Given the description of an element on the screen output the (x, y) to click on. 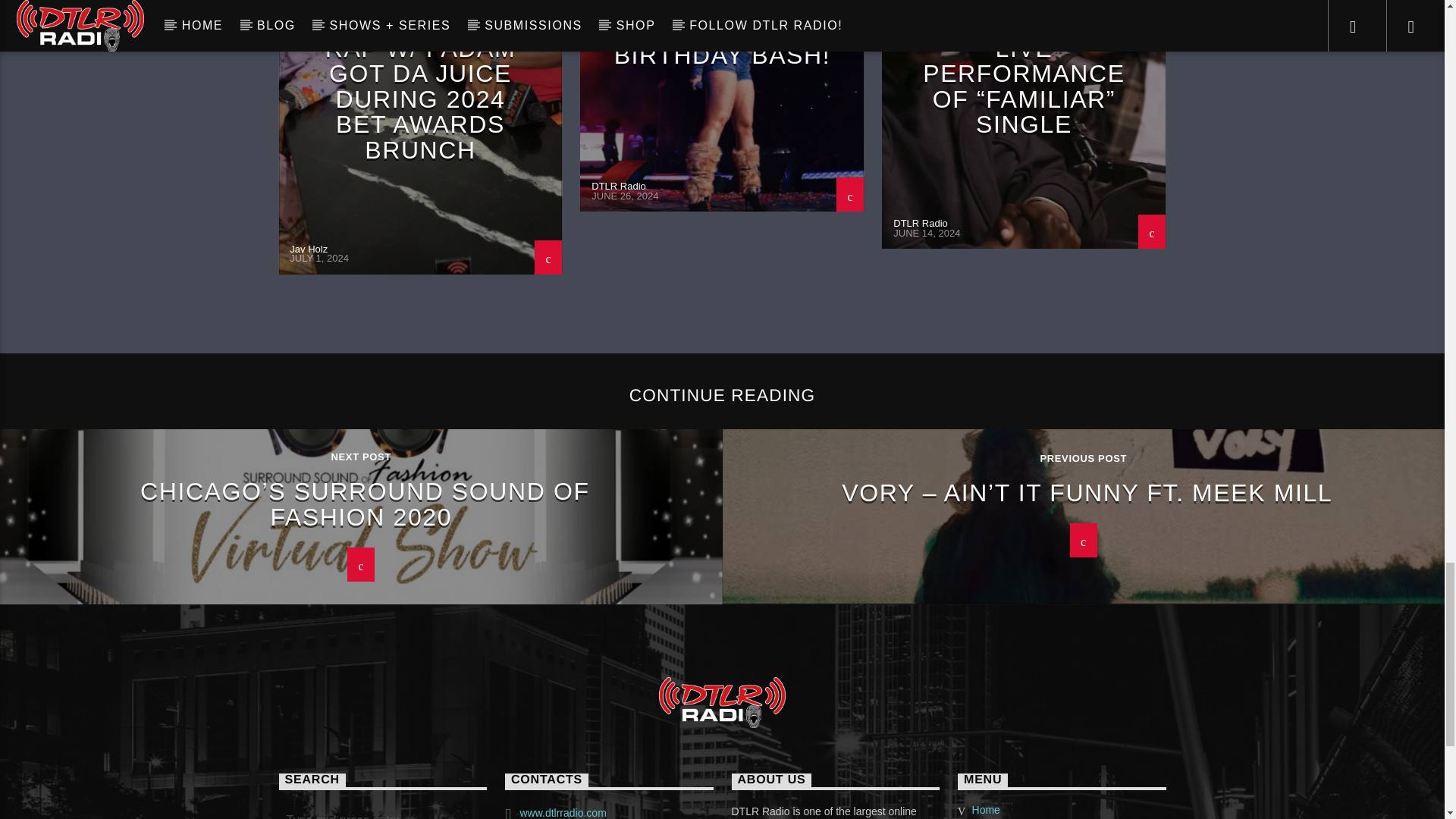
Posts by Jay Holz (308, 248)
Posts by DTLR Radio (618, 185)
Posts by DTLR Radio (920, 223)
